Given the description of an element on the screen output the (x, y) to click on. 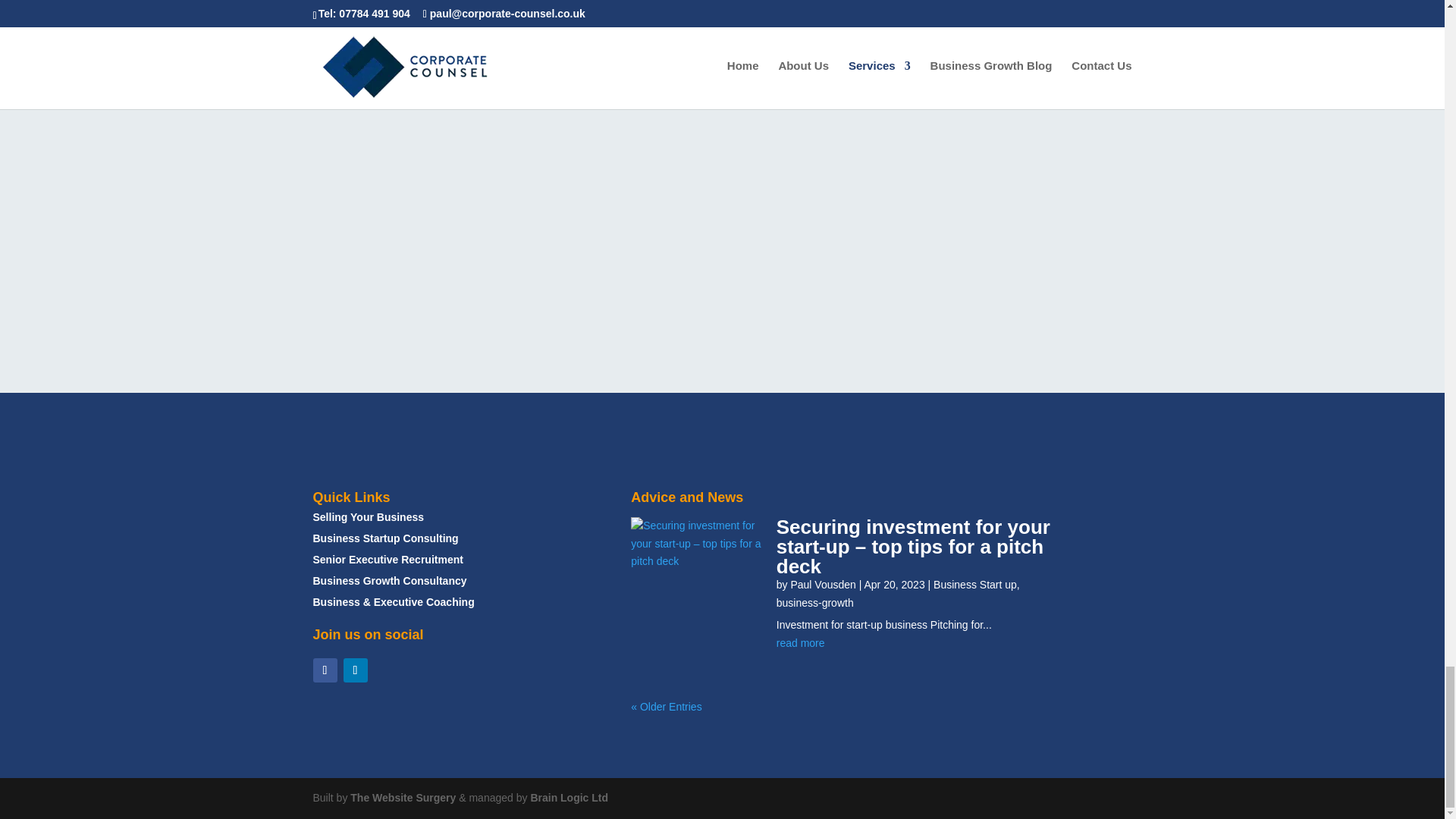
read more (921, 643)
Paul Vousden (823, 584)
Business start up consultant (385, 538)
Business Growth Consultancy (389, 580)
Posts by Paul Vousden (823, 584)
The Website Surgery (402, 797)
Business Startup Consulting (385, 538)
Follow on LinkedIn (354, 670)
Selling Your Business (368, 517)
Senior Executive Recruitment (388, 559)
